Given the description of an element on the screen output the (x, y) to click on. 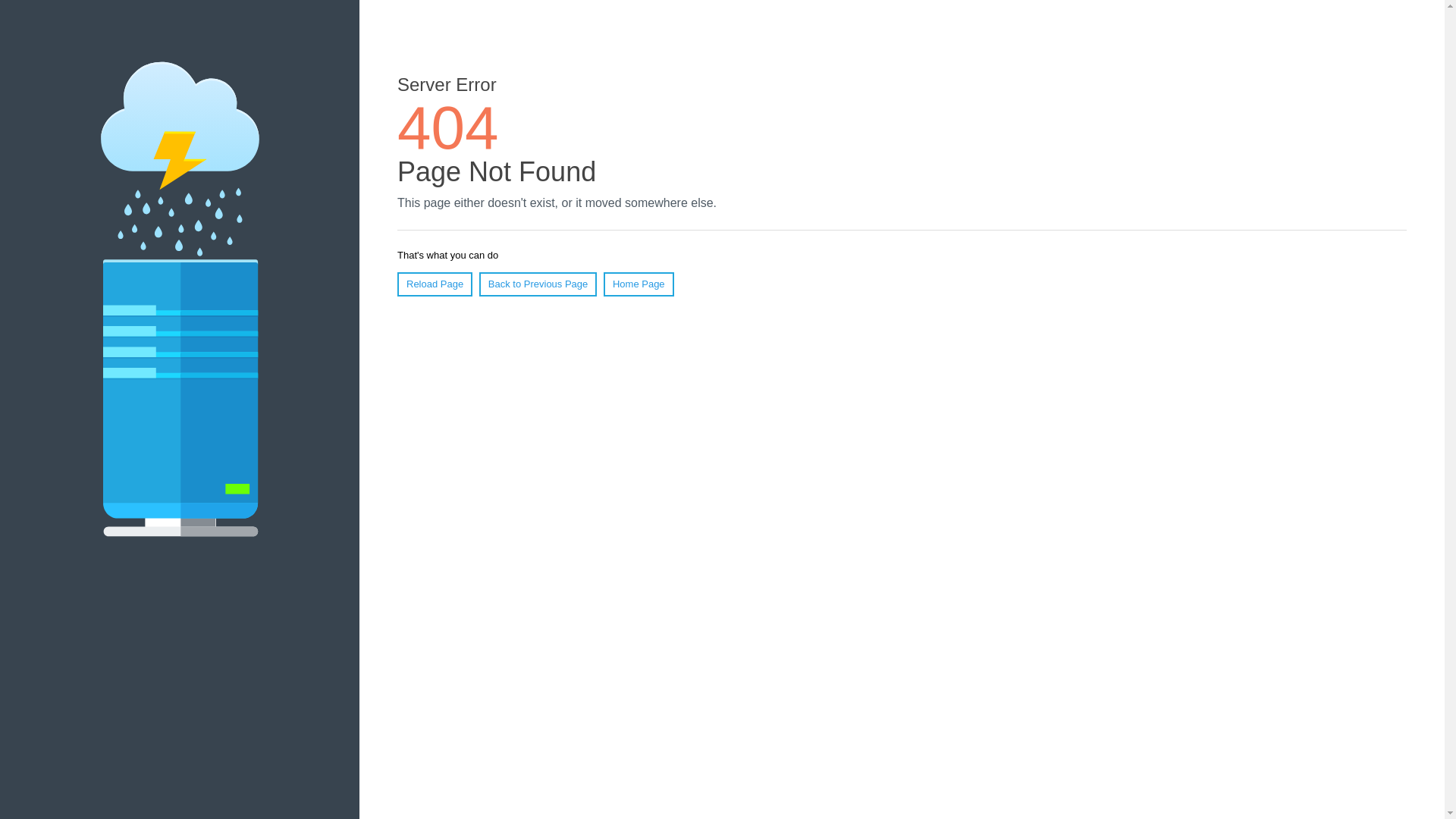
Reload Page Element type: text (434, 284)
Back to Previous Page Element type: text (538, 284)
Home Page Element type: text (638, 284)
